Given the description of an element on the screen output the (x, y) to click on. 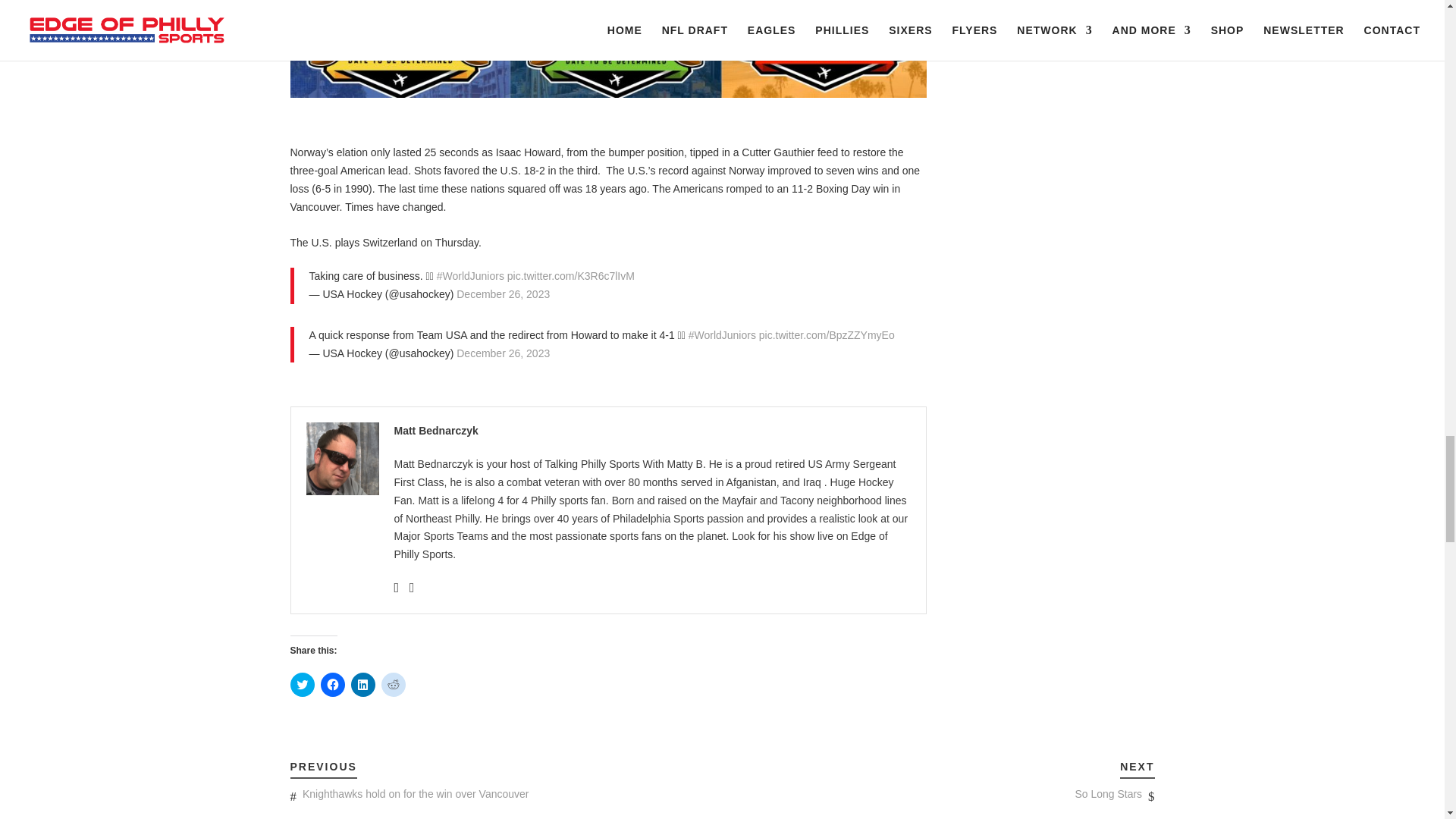
Click to share on Twitter (301, 684)
Click to share on LinkedIn (362, 684)
Click to share on Reddit (392, 684)
Click to share on Facebook (331, 684)
